Given the description of an element on the screen output the (x, y) to click on. 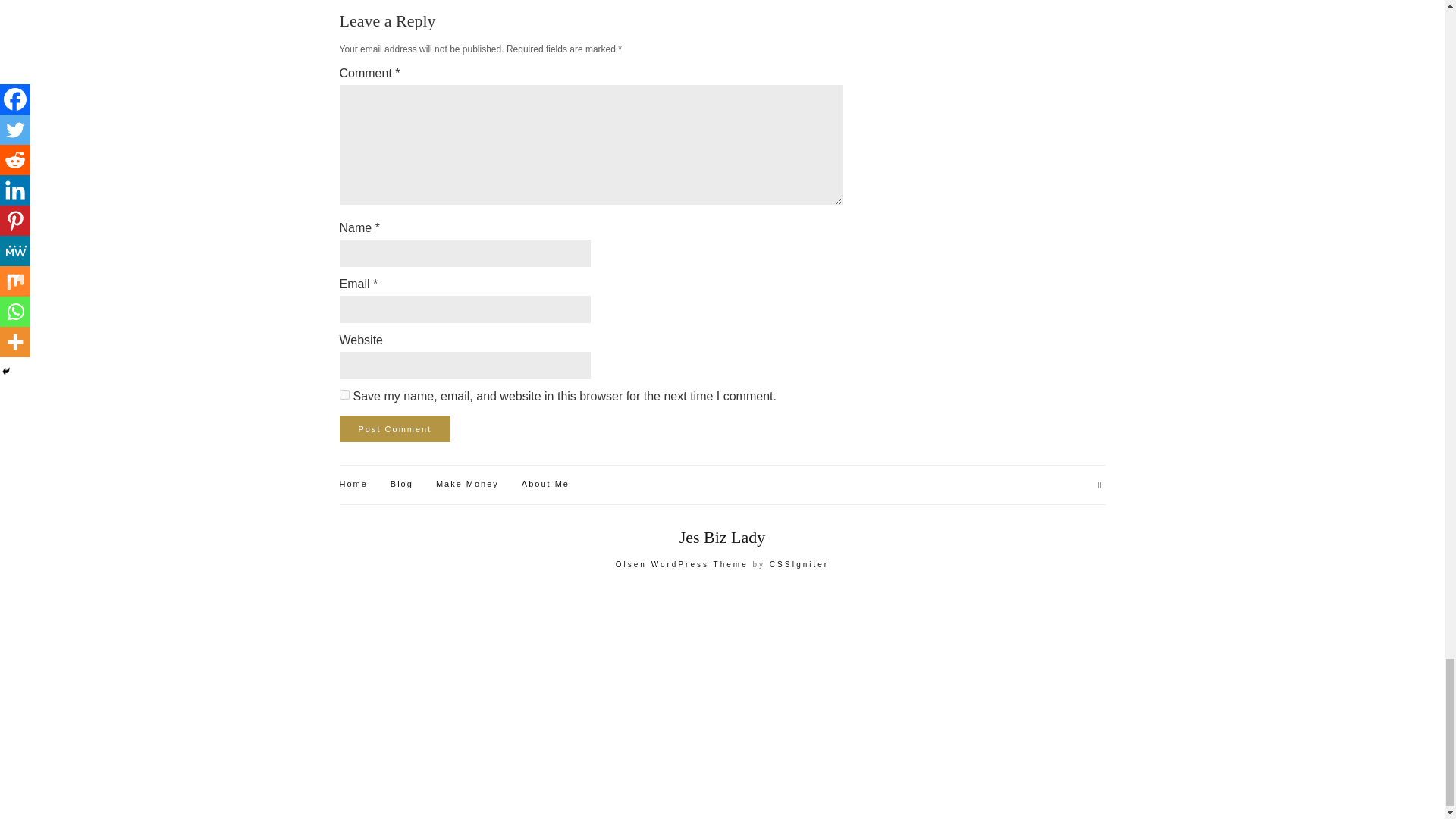
Blogging theme for WordPress (681, 564)
yes (344, 394)
Post Comment (395, 428)
